Given the description of an element on the screen output the (x, y) to click on. 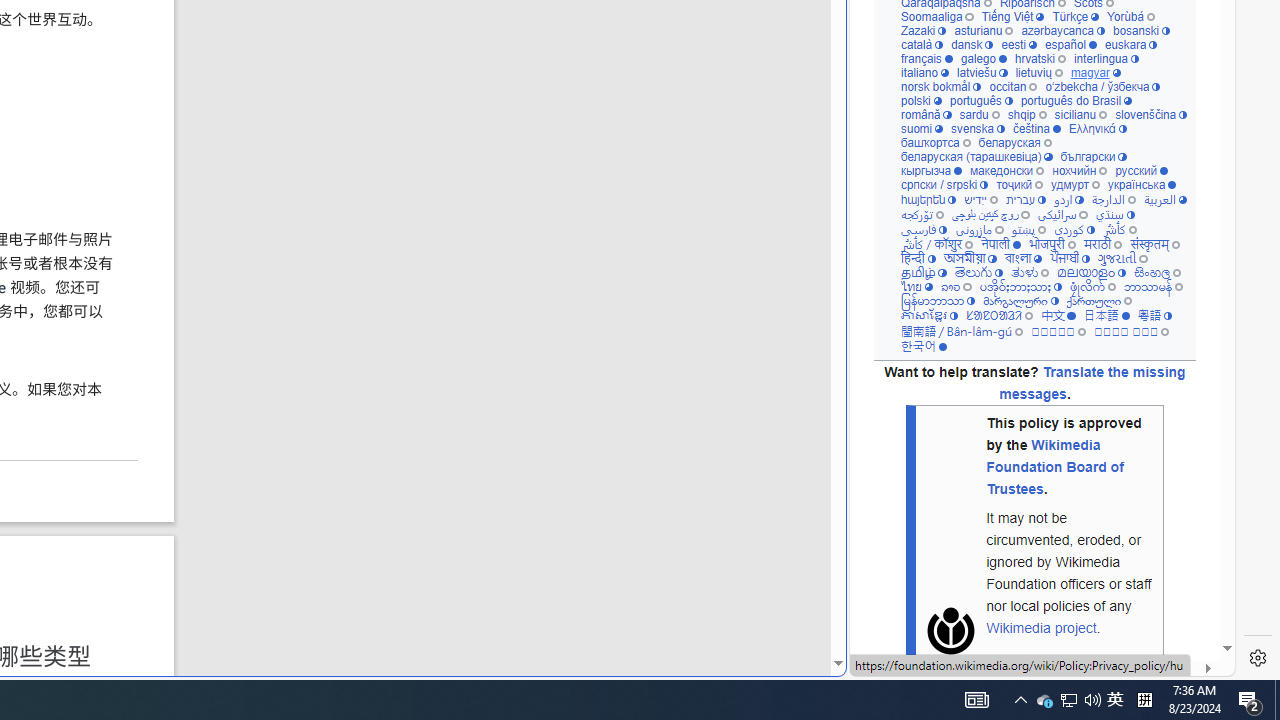
euskara (1130, 45)
magyar (1095, 73)
italiano (923, 73)
